Given the description of an element on the screen output the (x, y) to click on. 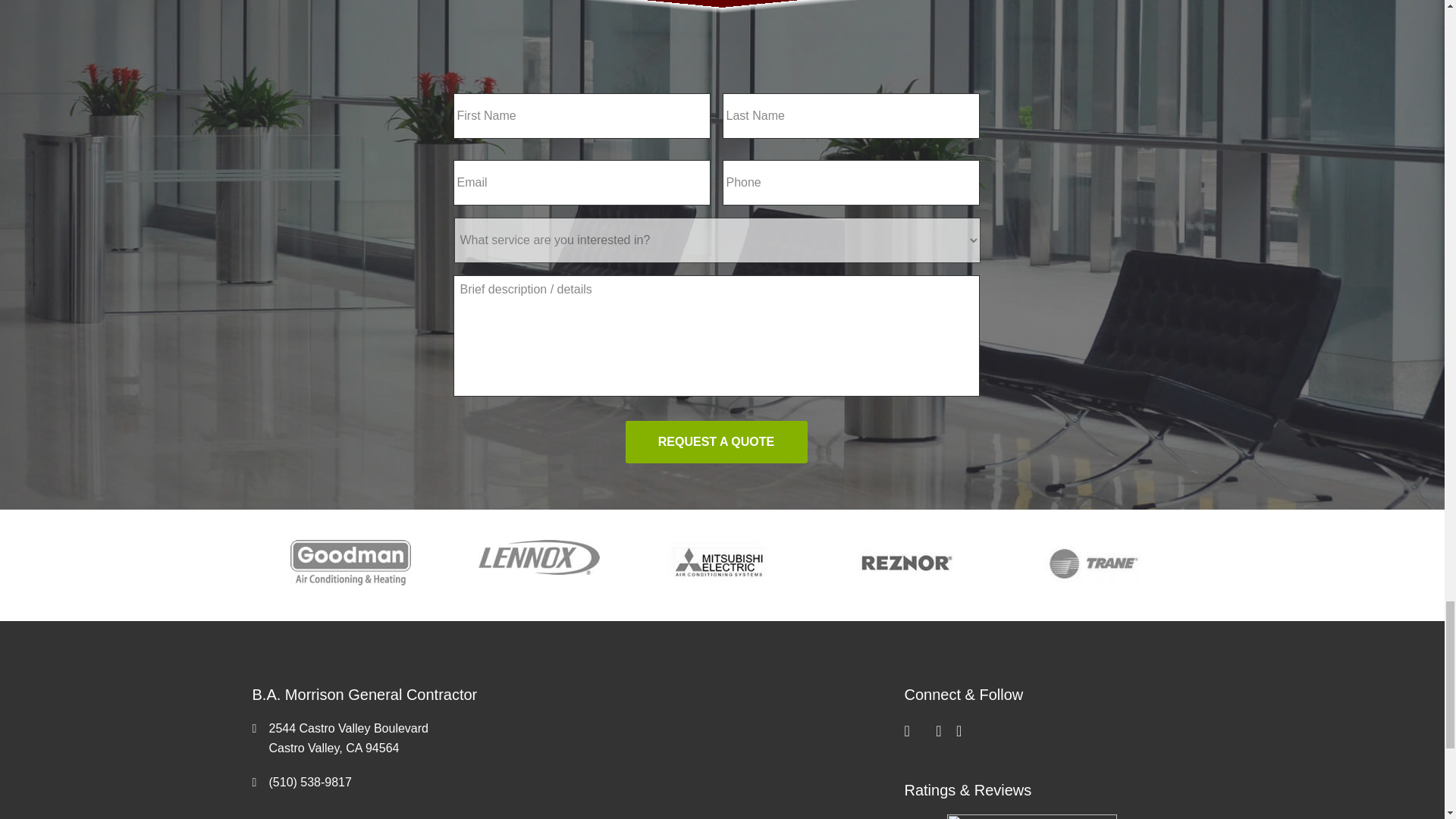
REQUEST A QUOTE (715, 441)
